Given the description of an element on the screen output the (x, y) to click on. 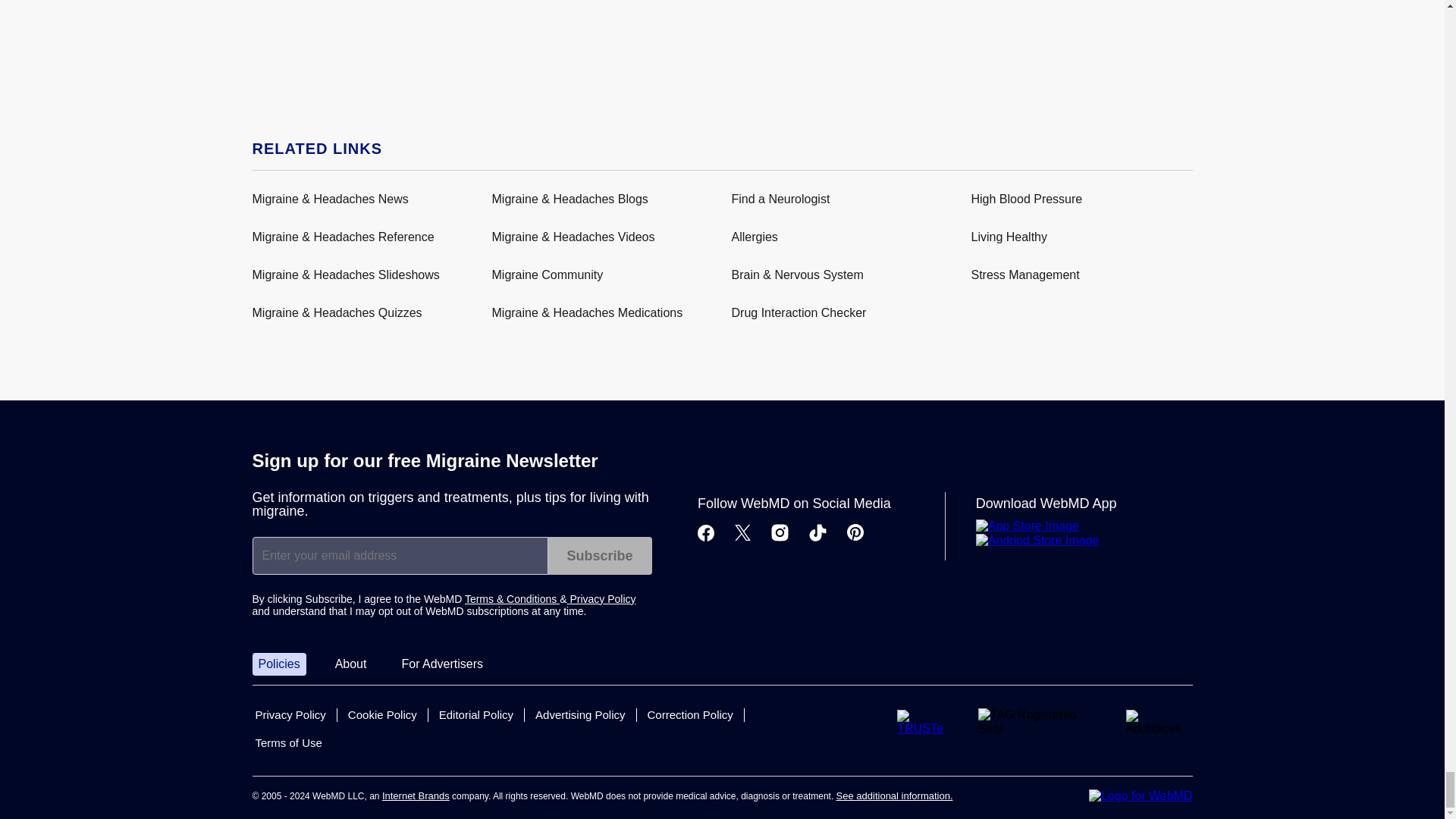
Adchoices (1158, 722)
TRUSTe Privacy Certification (924, 722)
TAG Registered Seal (1039, 722)
WebMD: Better information. Better health. (1140, 796)
